Given the description of an element on the screen output the (x, y) to click on. 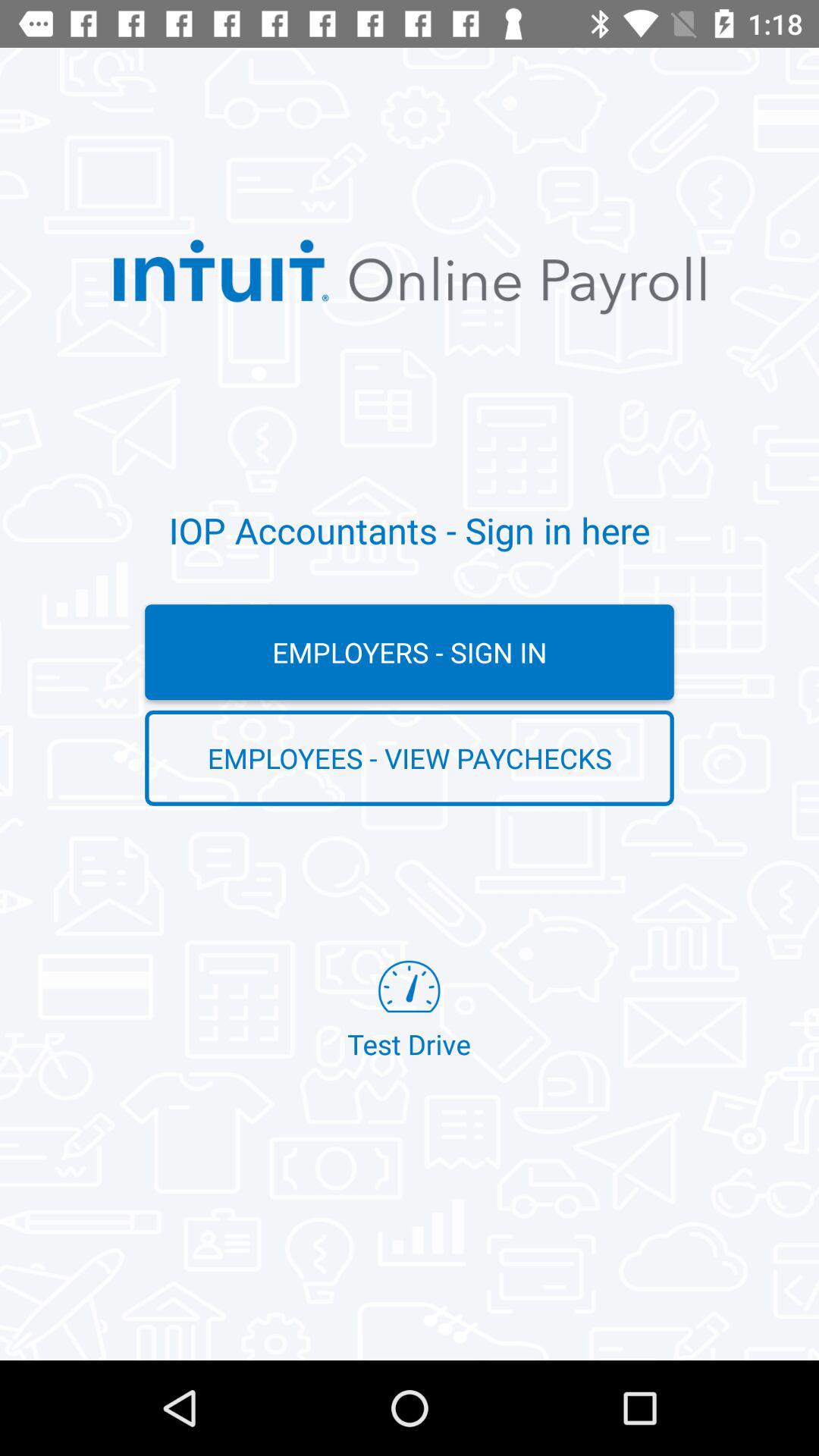
open the iop accountants sign item (409, 530)
